Given the description of an element on the screen output the (x, y) to click on. 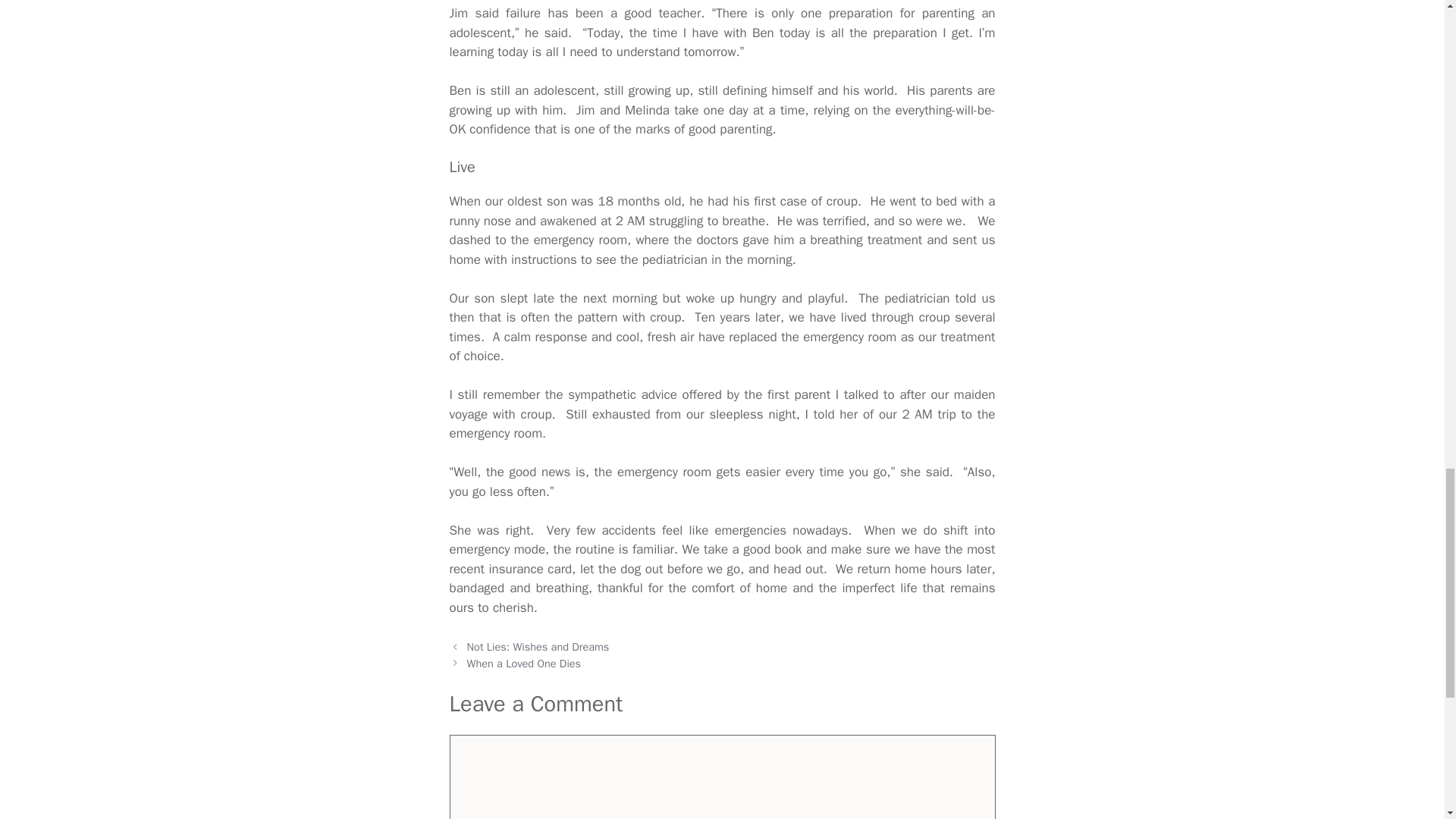
Not Lies: Wishes and Dreams (538, 646)
When a Loved One Dies (523, 663)
Previous (538, 646)
Next (523, 663)
